Given the description of an element on the screen output the (x, y) to click on. 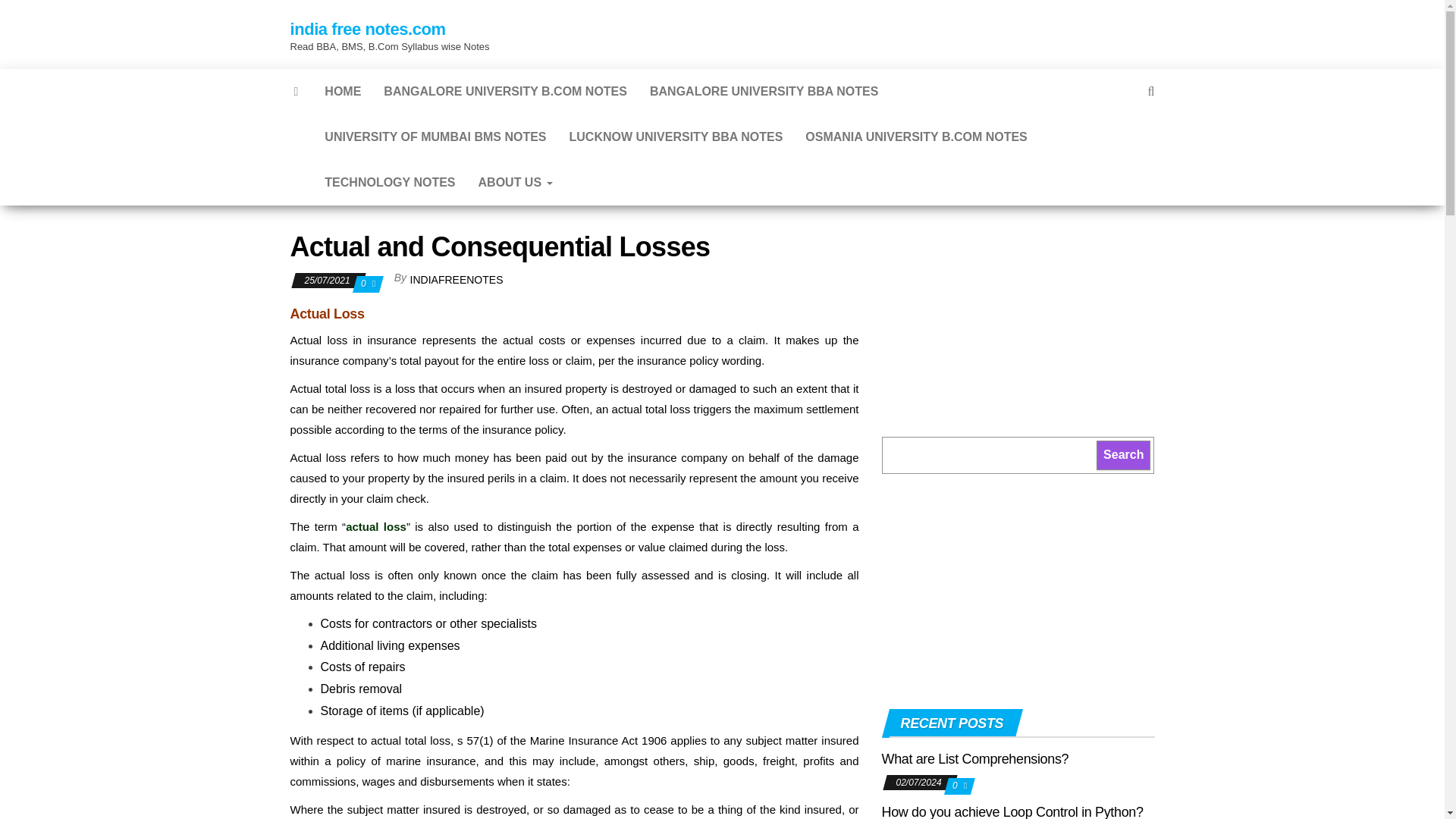
BANGALORE UNIVERSITY B.COM NOTES (505, 91)
Lucknow University BBA Notes (675, 136)
About Us (515, 182)
BANGALORE UNIVERSITY BBA NOTES (764, 91)
INDIAFREENOTES (456, 279)
OSMANIA UNIVERSITY B.COM NOTES (915, 136)
LUCKNOW UNIVERSITY BBA NOTES (675, 136)
University of Mumbai BMS Notes (435, 136)
HOME (342, 91)
Bangalore University B.Com Notes (505, 91)
Osmania University B.com Notes (915, 136)
Home (342, 91)
india free notes.com (367, 28)
UNIVERSITY OF MUMBAI BMS NOTES (435, 136)
TECHNOLOGY NOTES (389, 182)
